Given the description of an element on the screen output the (x, y) to click on. 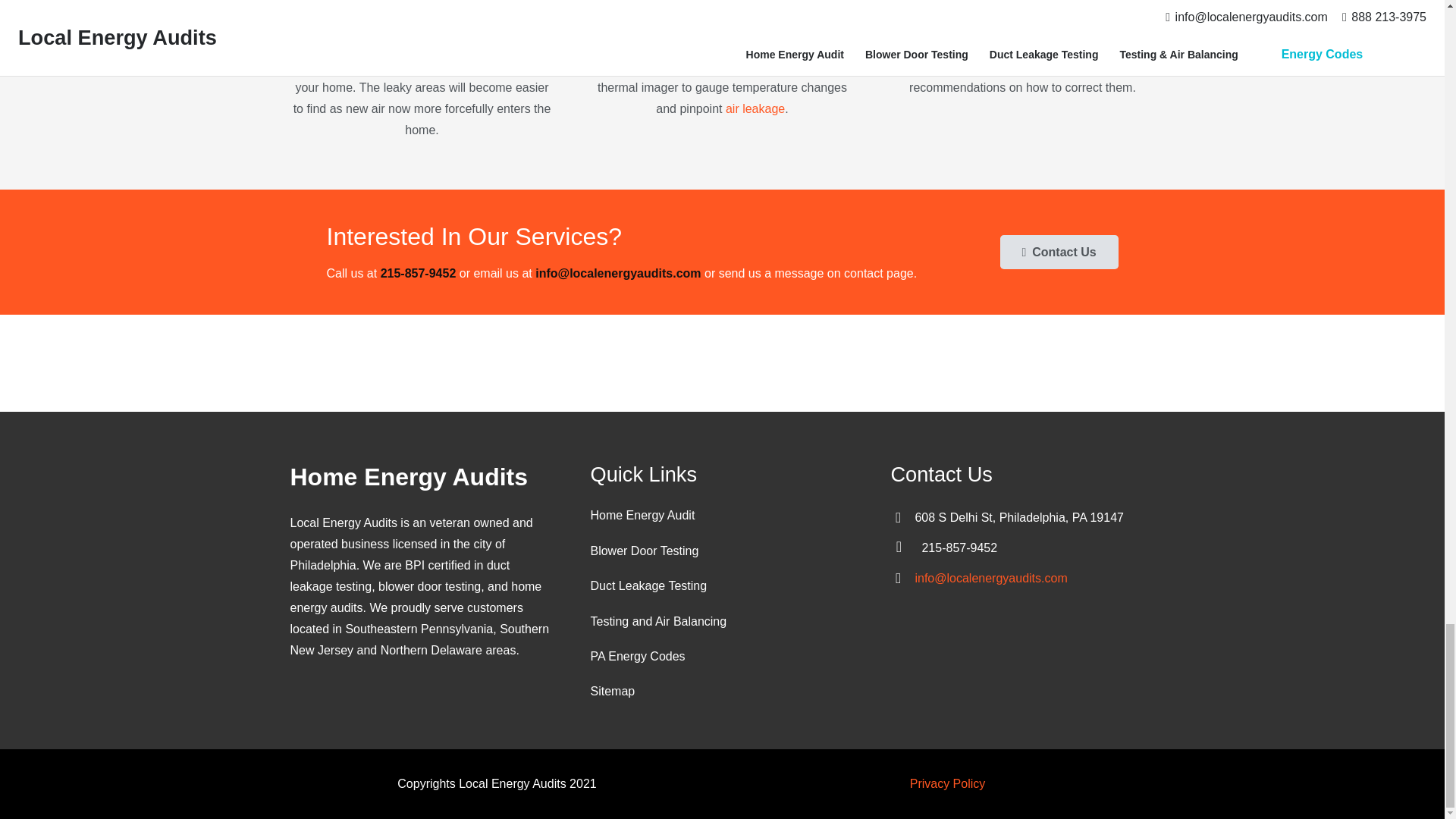
Contact Us (1059, 252)
